Given the description of an element on the screen output the (x, y) to click on. 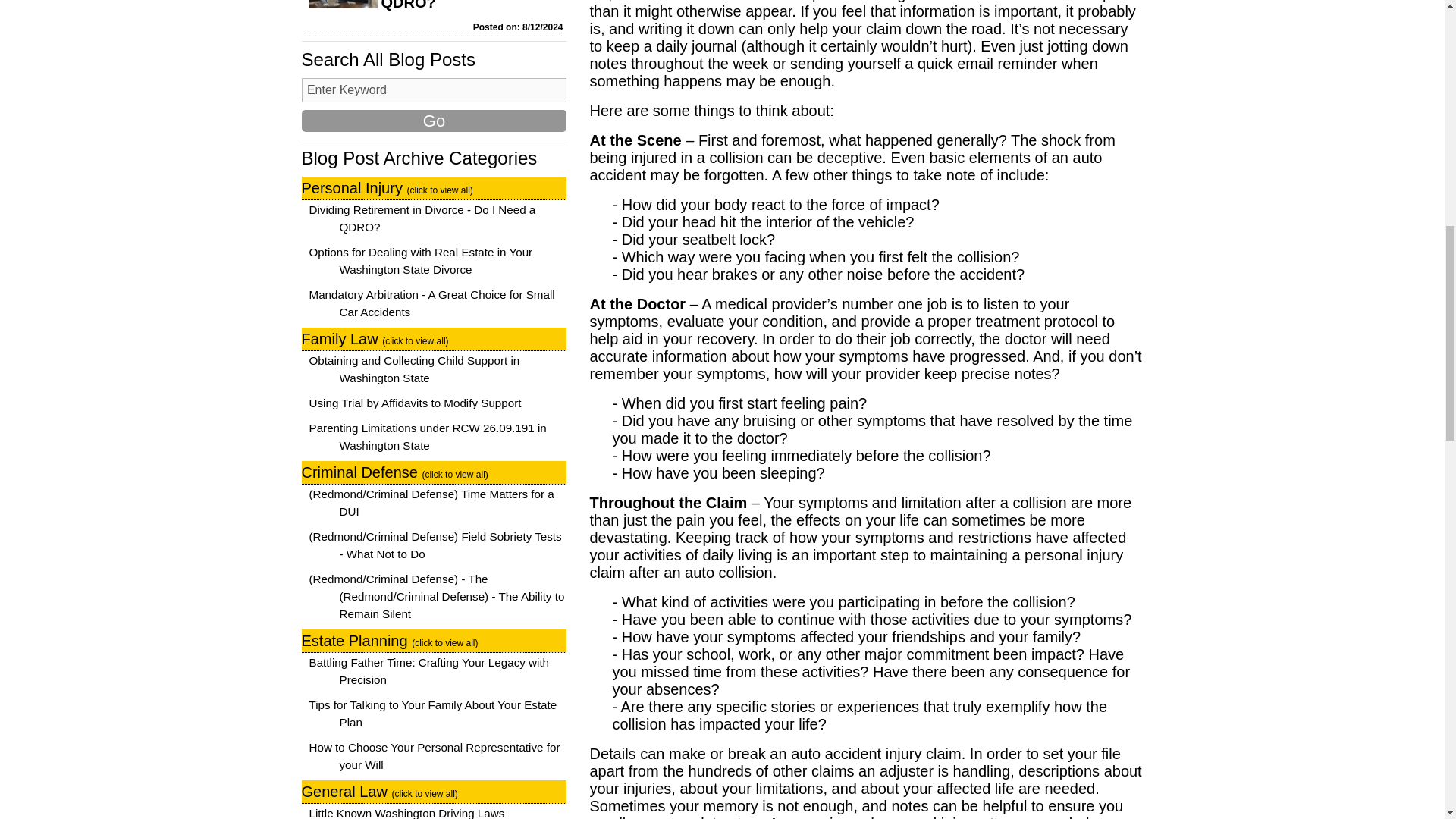
Obtaining and Collecting Child Support in Washington State (413, 368)
Dividing Retirement in Divorce - Do I Need a QDRO? (460, 5)
Dividing Retirement in Divorce - Do I Need a QDRO? (421, 218)
Using Trial by Affidavits to Modify Support (414, 402)
Go (434, 120)
 Enter Keyword (434, 89)
Go (434, 120)
